Given the description of an element on the screen output the (x, y) to click on. 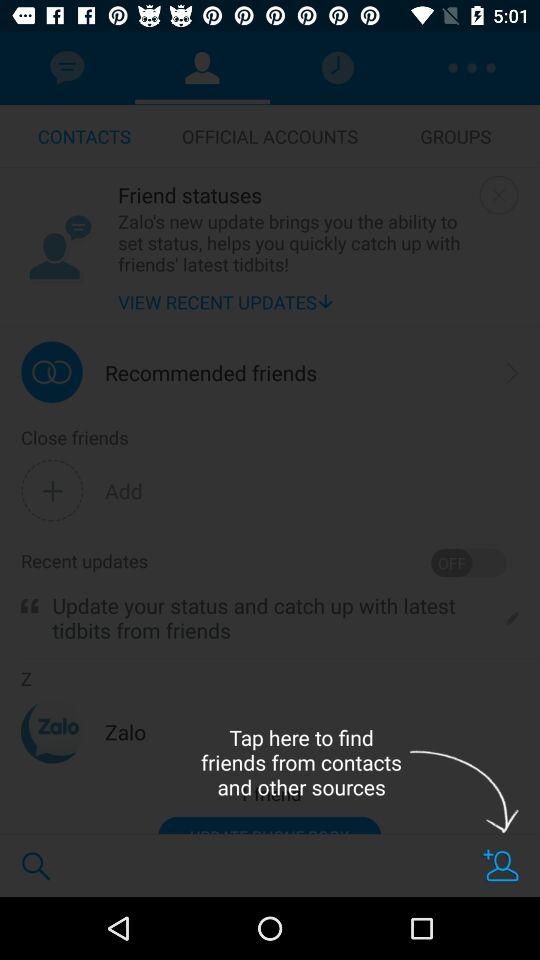
launch zalo s new icon (294, 242)
